Given the description of an element on the screen output the (x, y) to click on. 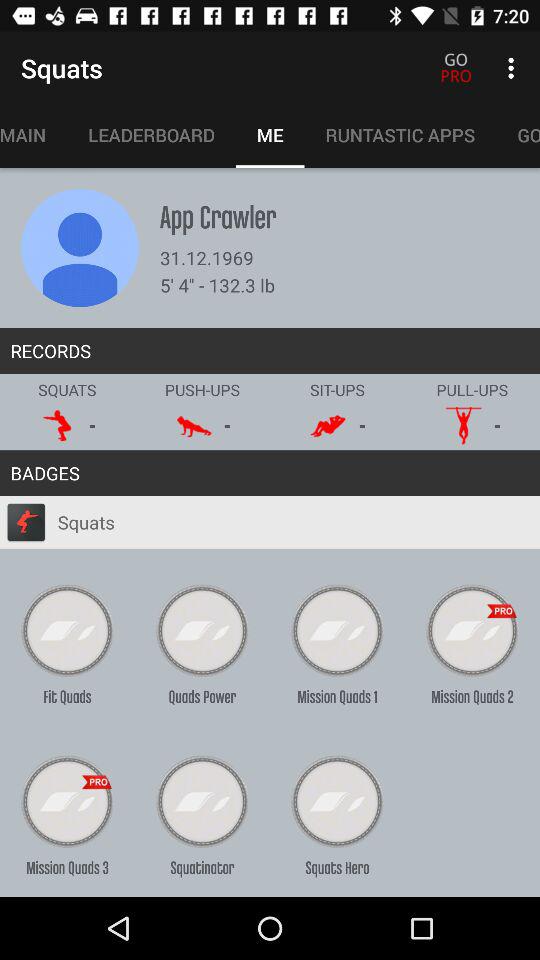
turn on item to the left of go pro! item (400, 135)
